Given the description of an element on the screen output the (x, y) to click on. 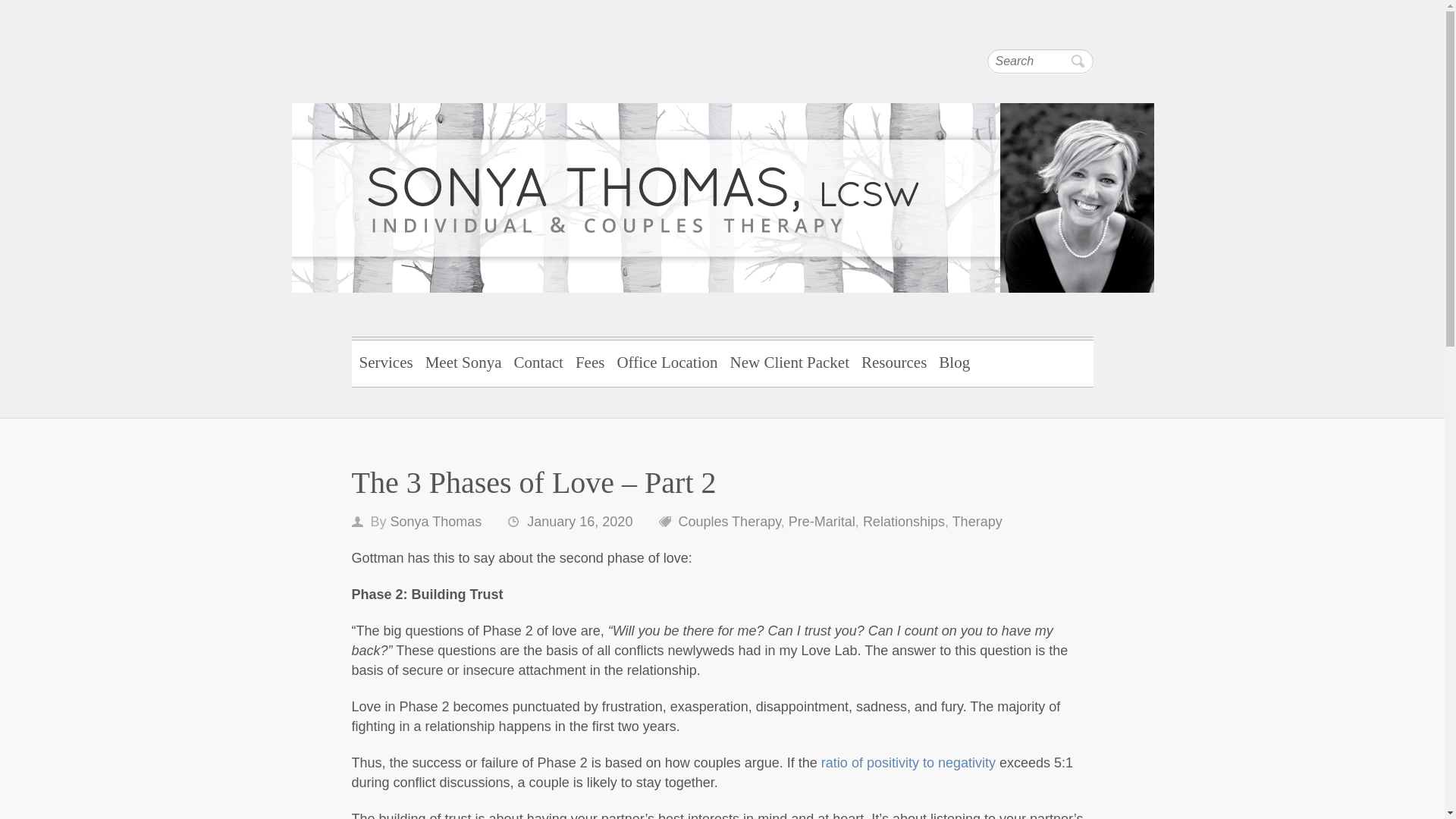
New Client Packet (789, 361)
Fees (589, 361)
Blog (953, 361)
Contact (538, 361)
Relationships (903, 521)
Sonya Thomas (435, 521)
Resources (893, 361)
Therapy (977, 521)
Pre-Marital (822, 521)
Services (386, 361)
Couples Therapy (729, 521)
Meet Sonya (463, 361)
Office Location (666, 361)
January 16, 2020 (579, 521)
